Given the description of an element on the screen output the (x, y) to click on. 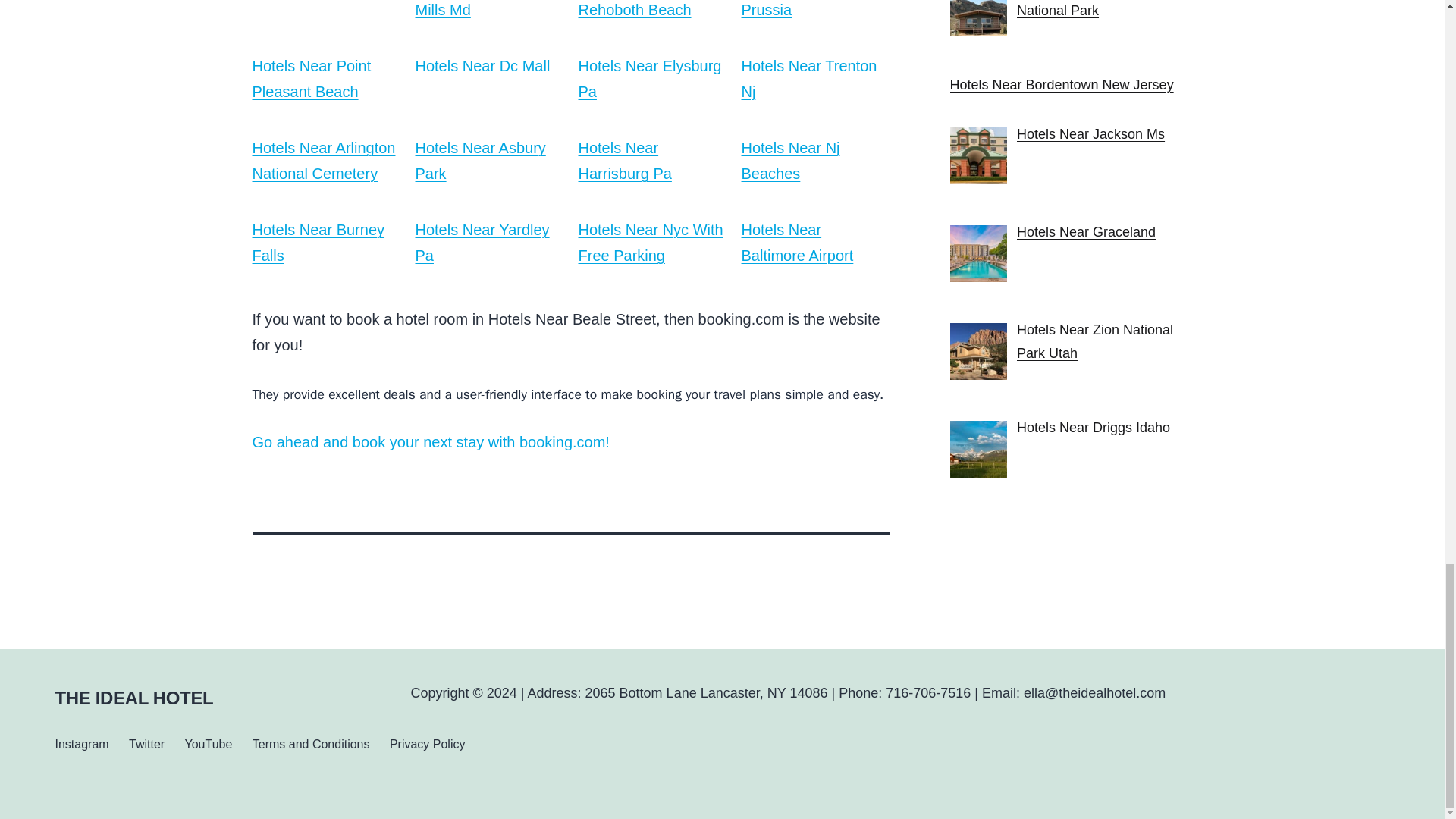
Hotels Near Rehoboth Beach (634, 9)
Hotels Near King of Prussia (806, 9)
Hotels Near Elysburg Pa (649, 78)
Hotels Near Harrisburg Pa (624, 160)
Hotels Near Nj Beaches (790, 160)
Hotels Near Burney Falls (317, 242)
Hotels Near Baltimore Airport (797, 242)
Go ahead and book your next stay with booking.com! (429, 442)
Hotels Near King of Prussia (806, 9)
Hotels Near Yardley Pa (482, 242)
Hotels Near Owings Mills Md (482, 9)
Hotels Near Dc Mall (482, 65)
Hotels Near Point Pleasant Beach (311, 78)
Hotels Near Asbury Park (480, 160)
Hotels Near Yardley Pa (482, 242)
